Given the description of an element on the screen output the (x, y) to click on. 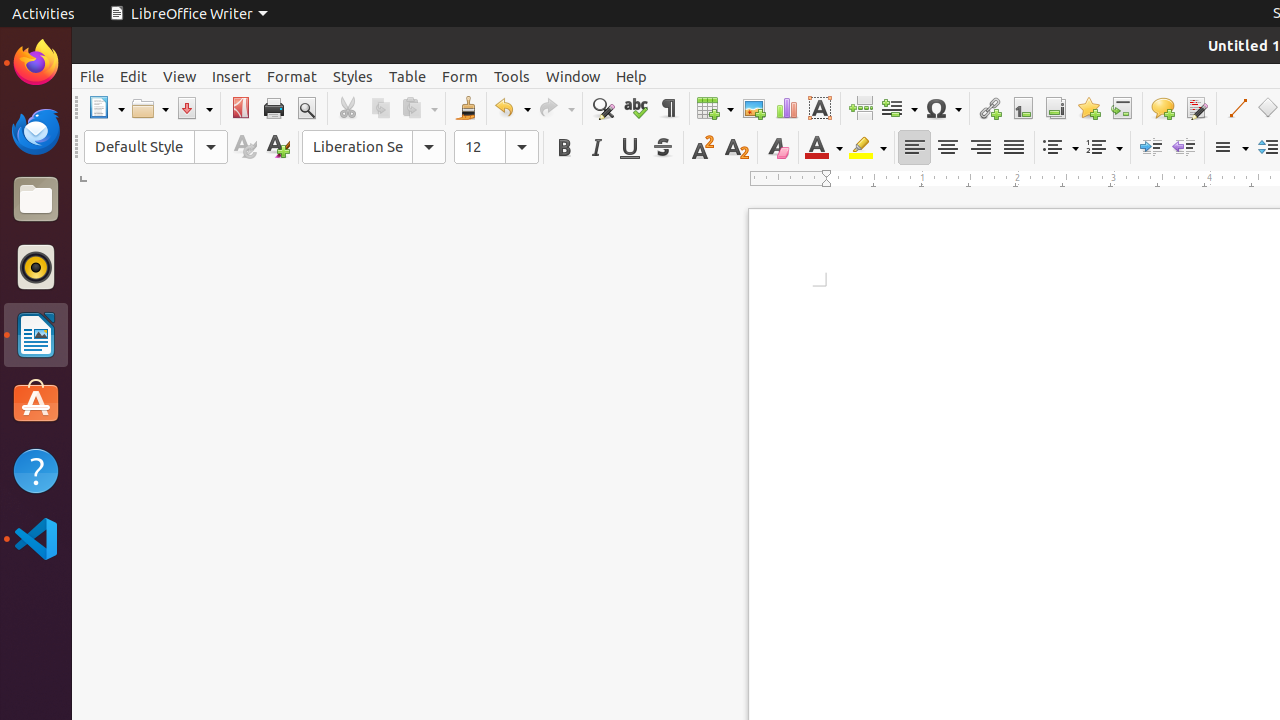
Help Element type: menu (631, 76)
Clear Element type: push-button (777, 147)
Line Spacing Element type: push-button (1230, 147)
Endnote Element type: push-button (1055, 108)
Redo Element type: push-button (556, 108)
